Given the description of an element on the screen output the (x, y) to click on. 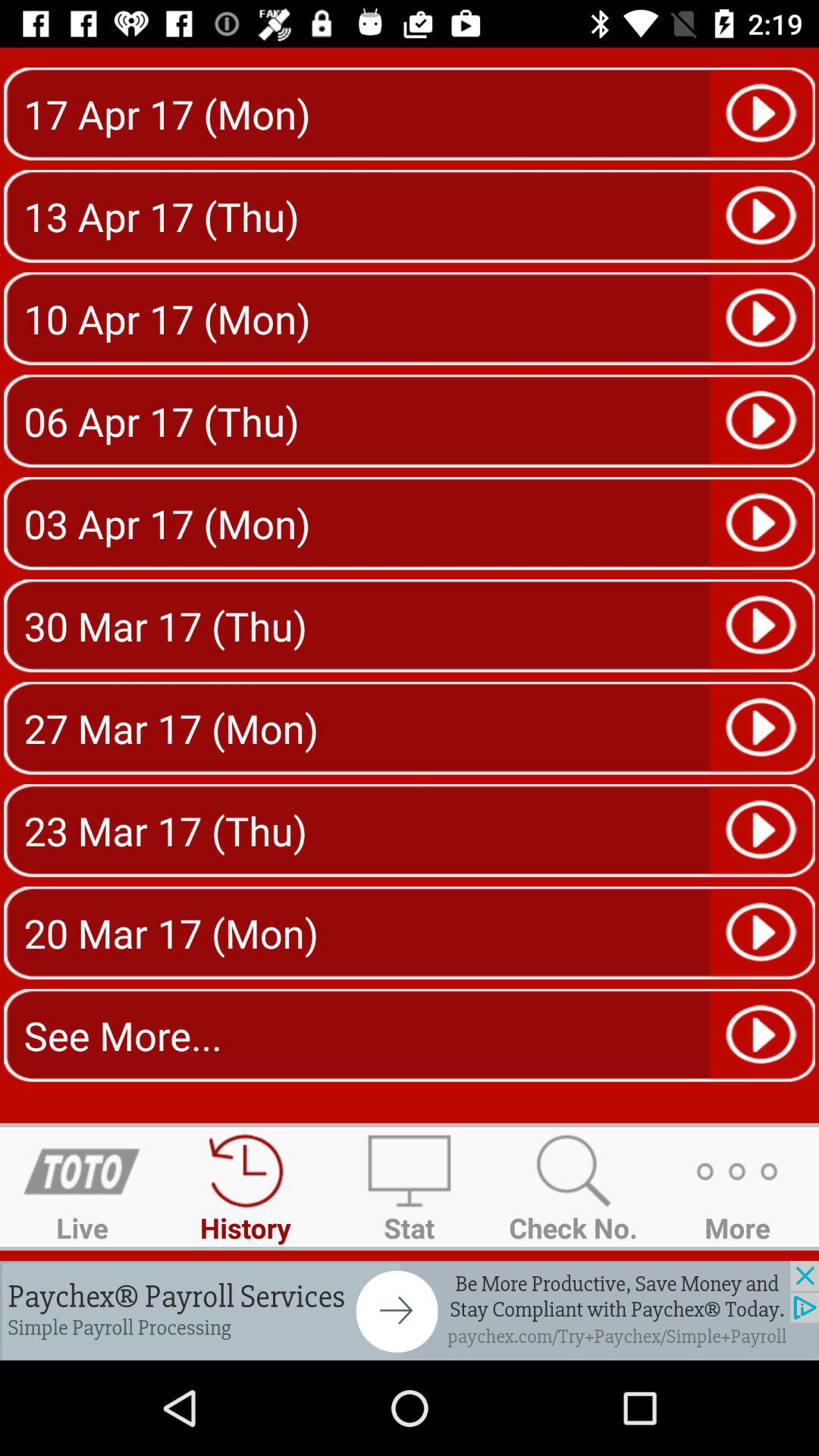
select paychex advertisement (409, 1310)
